Given the description of an element on the screen output the (x, y) to click on. 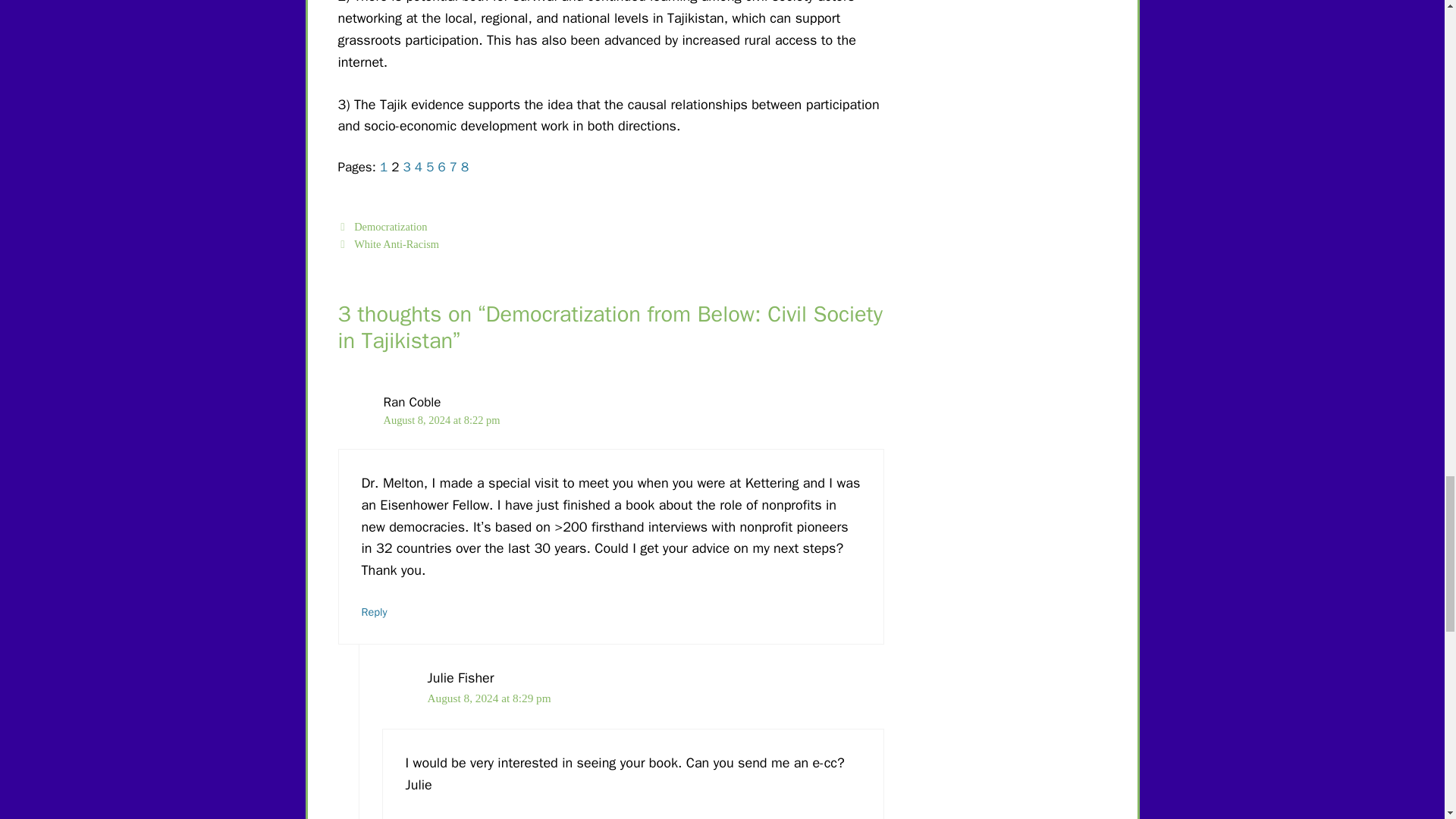
August 8, 2024 at 8:29 pm (489, 697)
White Anti-Racism (396, 244)
Democratization (389, 226)
Reply (374, 612)
August 8, 2024 at 8:22 pm (442, 419)
